Given the description of an element on the screen output the (x, y) to click on. 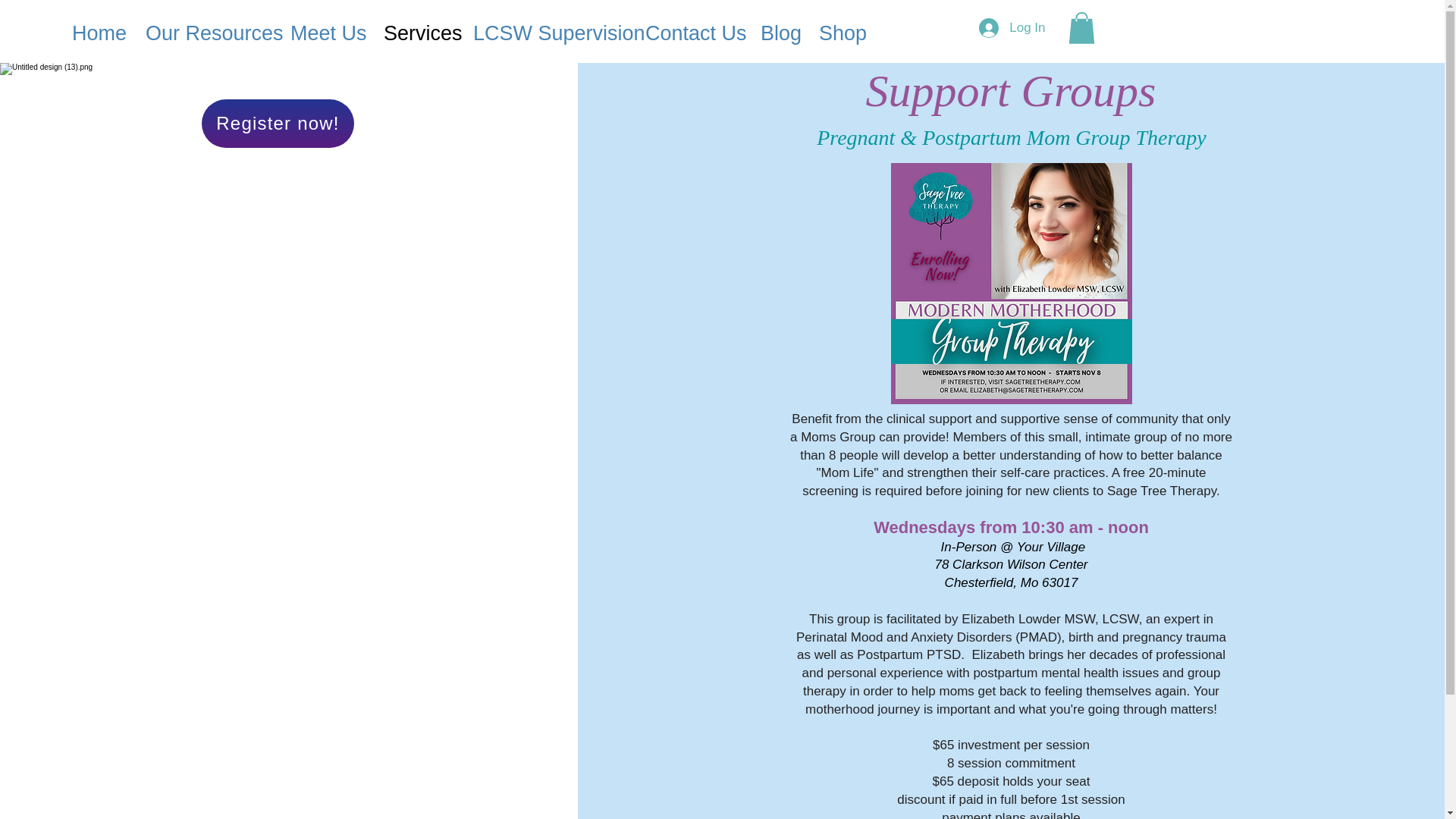
Shop (839, 33)
Home (97, 33)
Register now! (277, 123)
Services (416, 33)
LCSW Supervision (547, 33)
Meet Us (325, 33)
Blog (778, 33)
Our Resources (206, 33)
Log In (1011, 27)
Contact Us (691, 33)
